Given the description of an element on the screen output the (x, y) to click on. 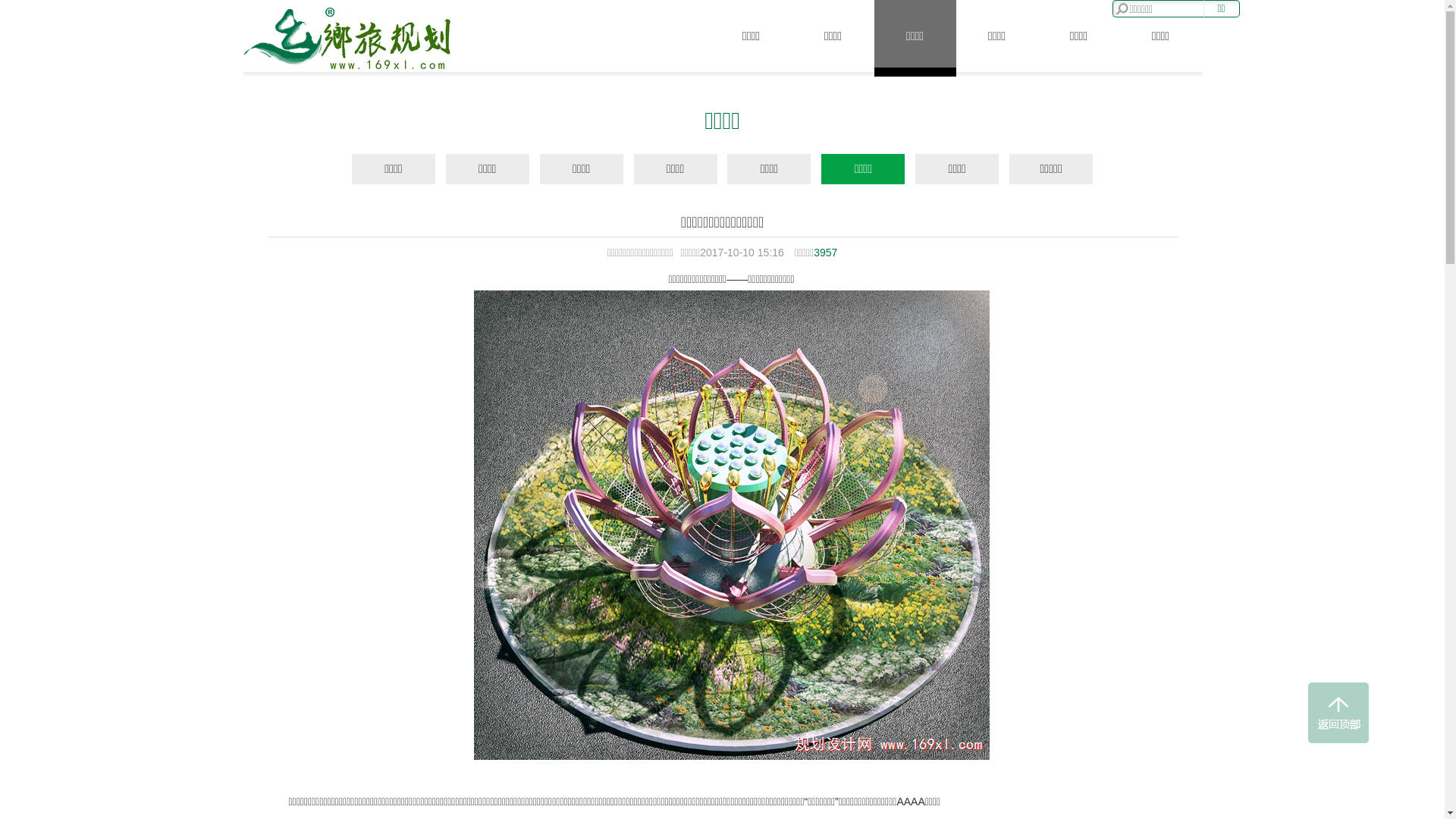
1507619625581402.jpg Element type: hover (730, 524)
